Given the description of an element on the screen output the (x, y) to click on. 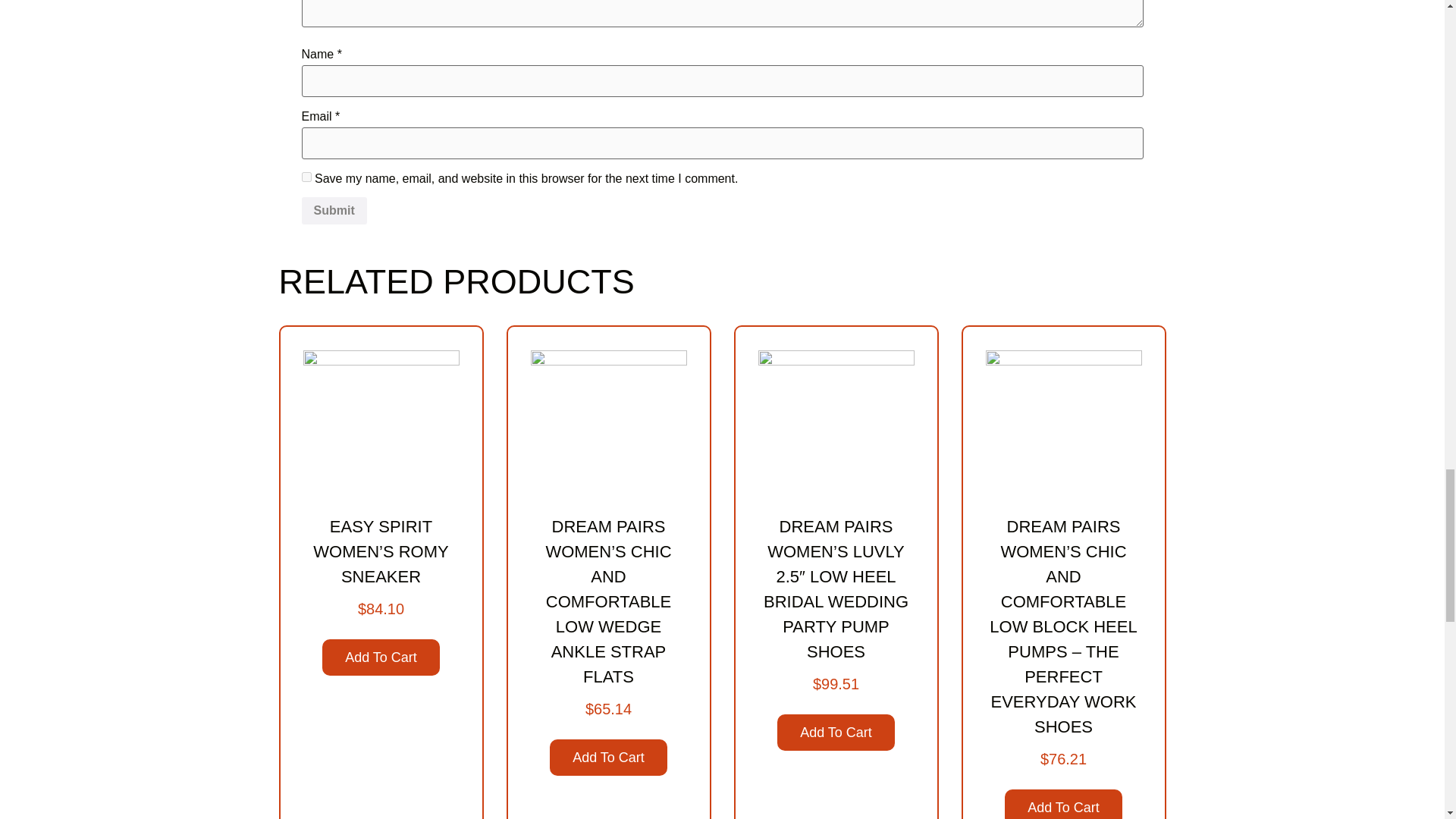
Add To Cart (380, 657)
Submit (333, 210)
yes (306, 176)
Submit (333, 210)
